Given the description of an element on the screen output the (x, y) to click on. 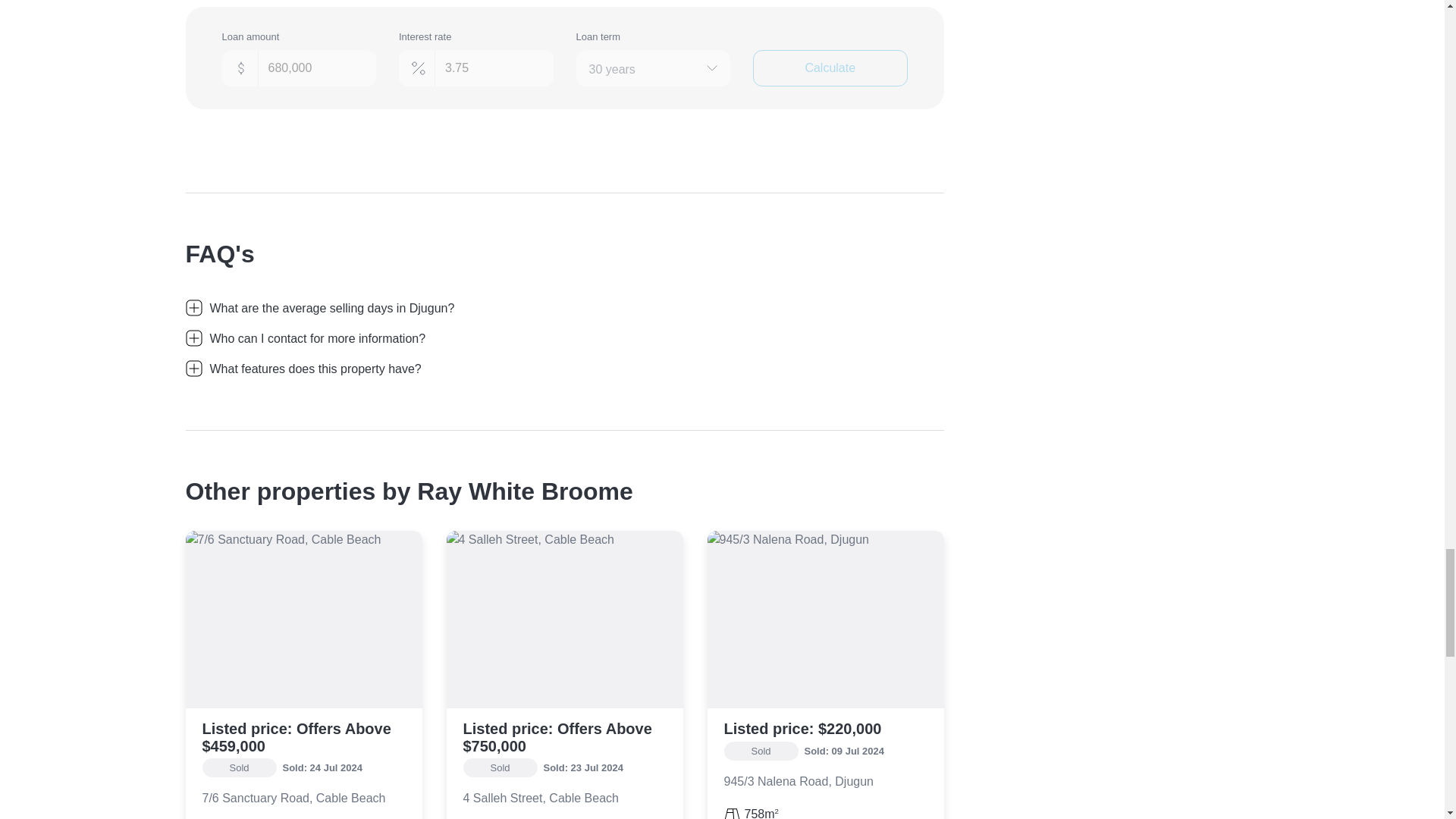
3.75 (475, 67)
680,000 (298, 67)
